Given the description of an element on the screen output the (x, y) to click on. 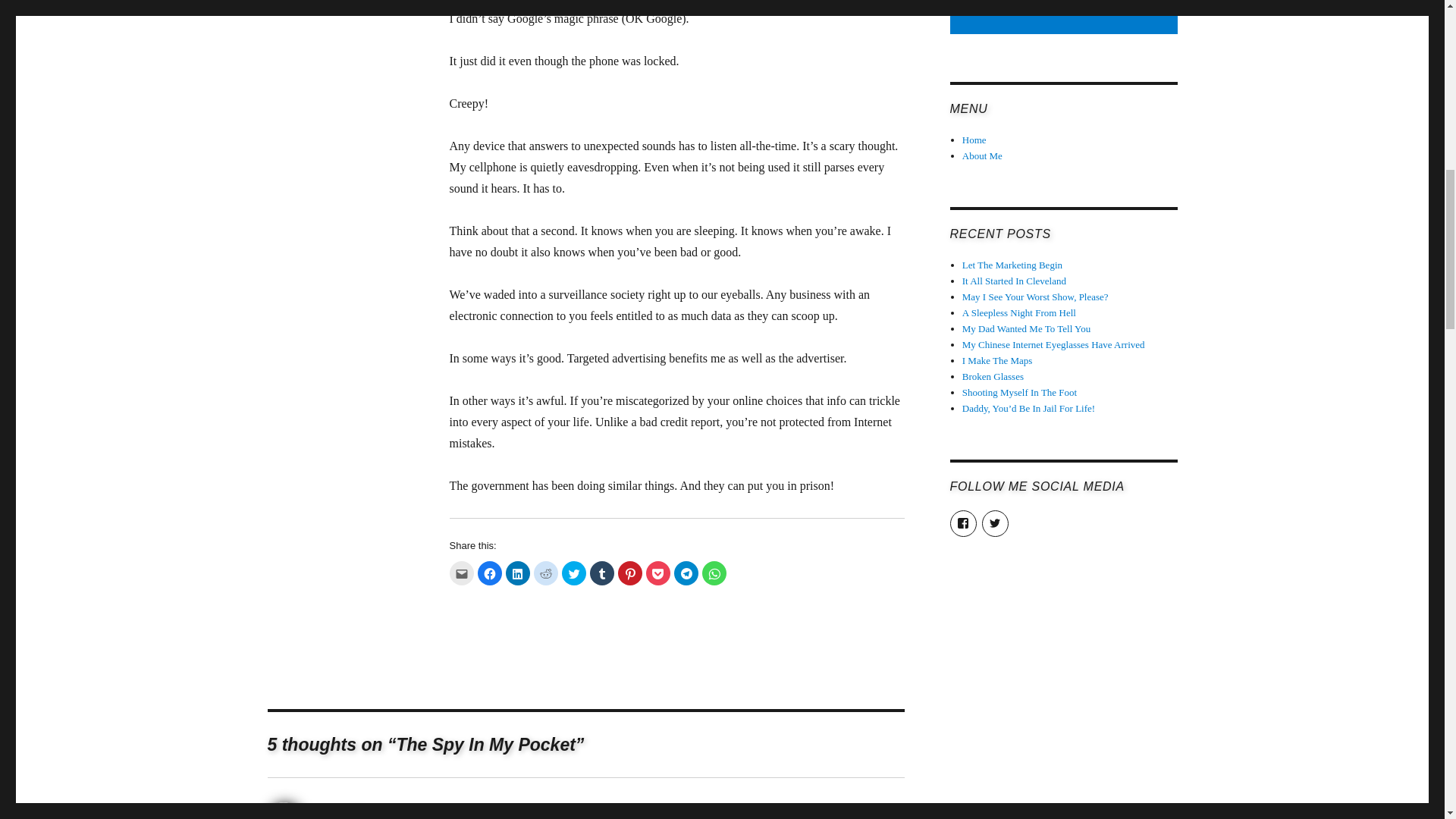
Click to share on Tumblr (601, 573)
Click to share on Twitter (572, 573)
Click to share on WhatsApp (713, 573)
Click to share on Pocket (657, 573)
Click to share on Pinterest (629, 573)
Click to email this to a friend (460, 573)
Click to share on Facebook (489, 573)
Click to share on Telegram (684, 573)
Click to share on LinkedIn (517, 573)
Click to share on Reddit (545, 573)
